Given the description of an element on the screen output the (x, y) to click on. 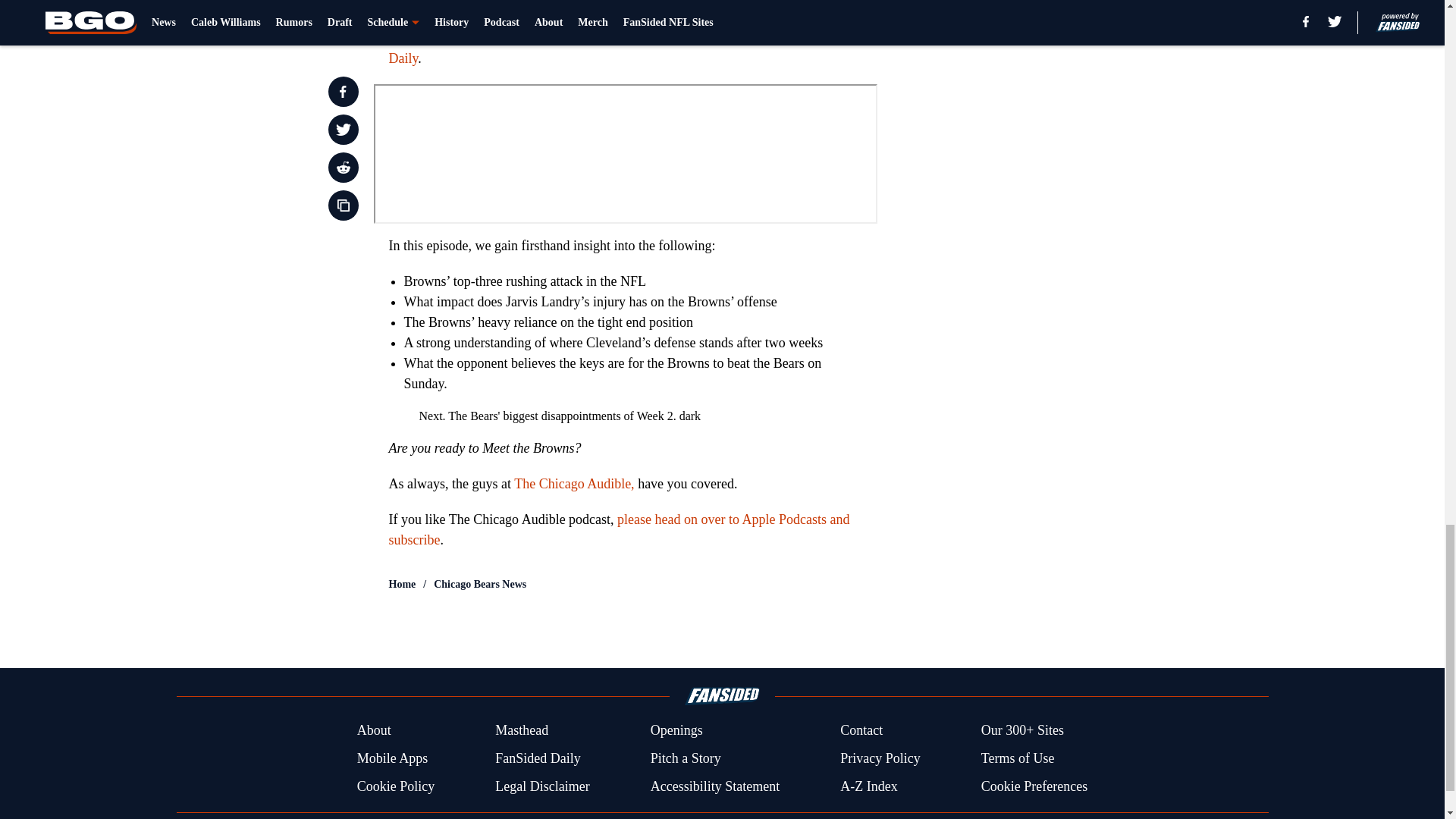
The Chicago Audible, (573, 483)
Privacy Policy (880, 758)
FanSided Daily (537, 758)
Chicago Bears News (479, 584)
Home (401, 584)
Mobile Apps (392, 758)
Contact (861, 730)
Openings (676, 730)
Masthead (521, 730)
Terms of Use (1017, 758)
Dawg Pound Daily (614, 48)
About (373, 730)
Pitch a Story (685, 758)
please head on over to Apple Podcasts and subscribe (618, 529)
